Given the description of an element on the screen output the (x, y) to click on. 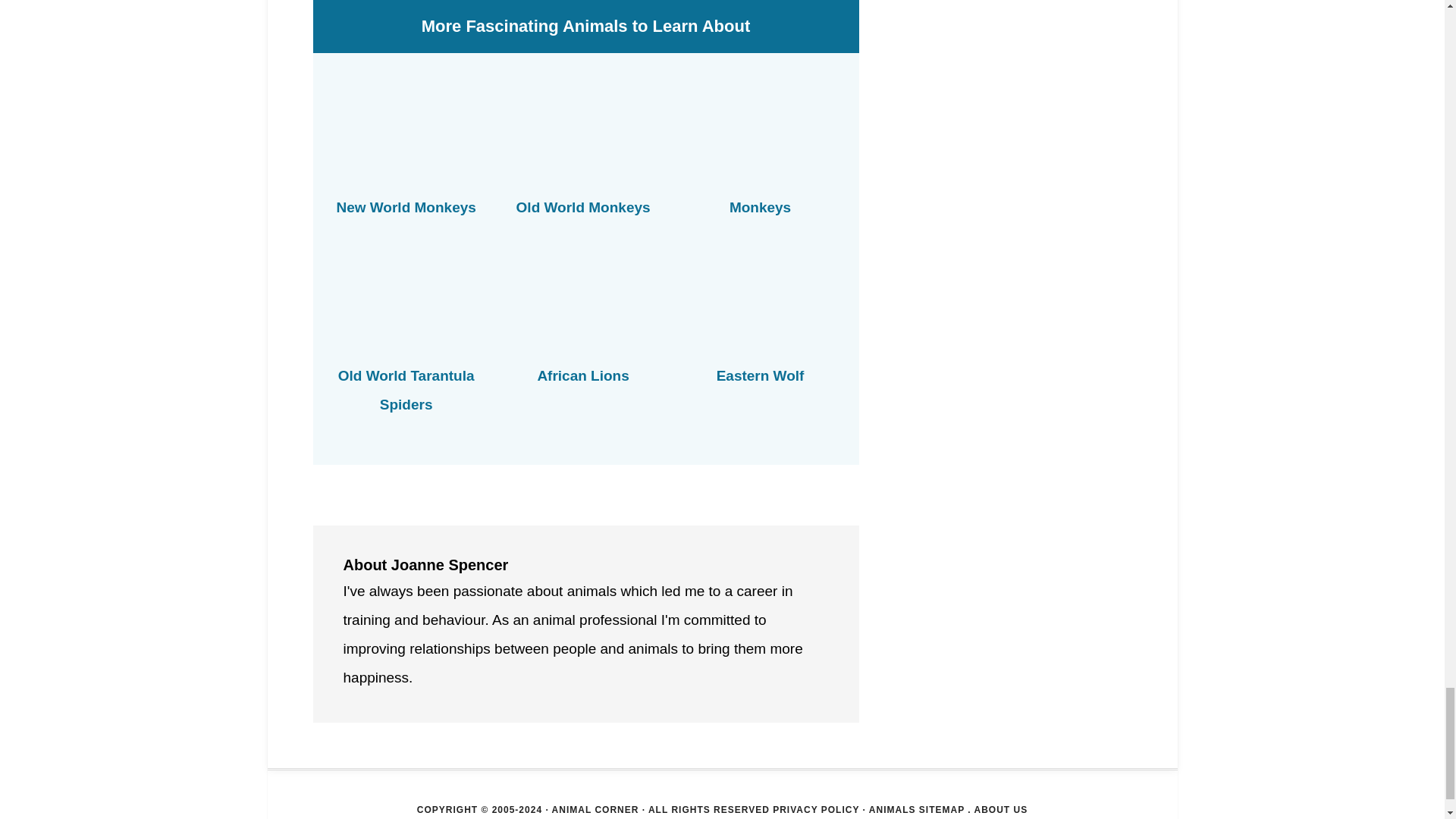
Old World Monkeys (583, 207)
New World Monkeys (406, 207)
Monkeys (759, 207)
